Given the description of an element on the screen output the (x, y) to click on. 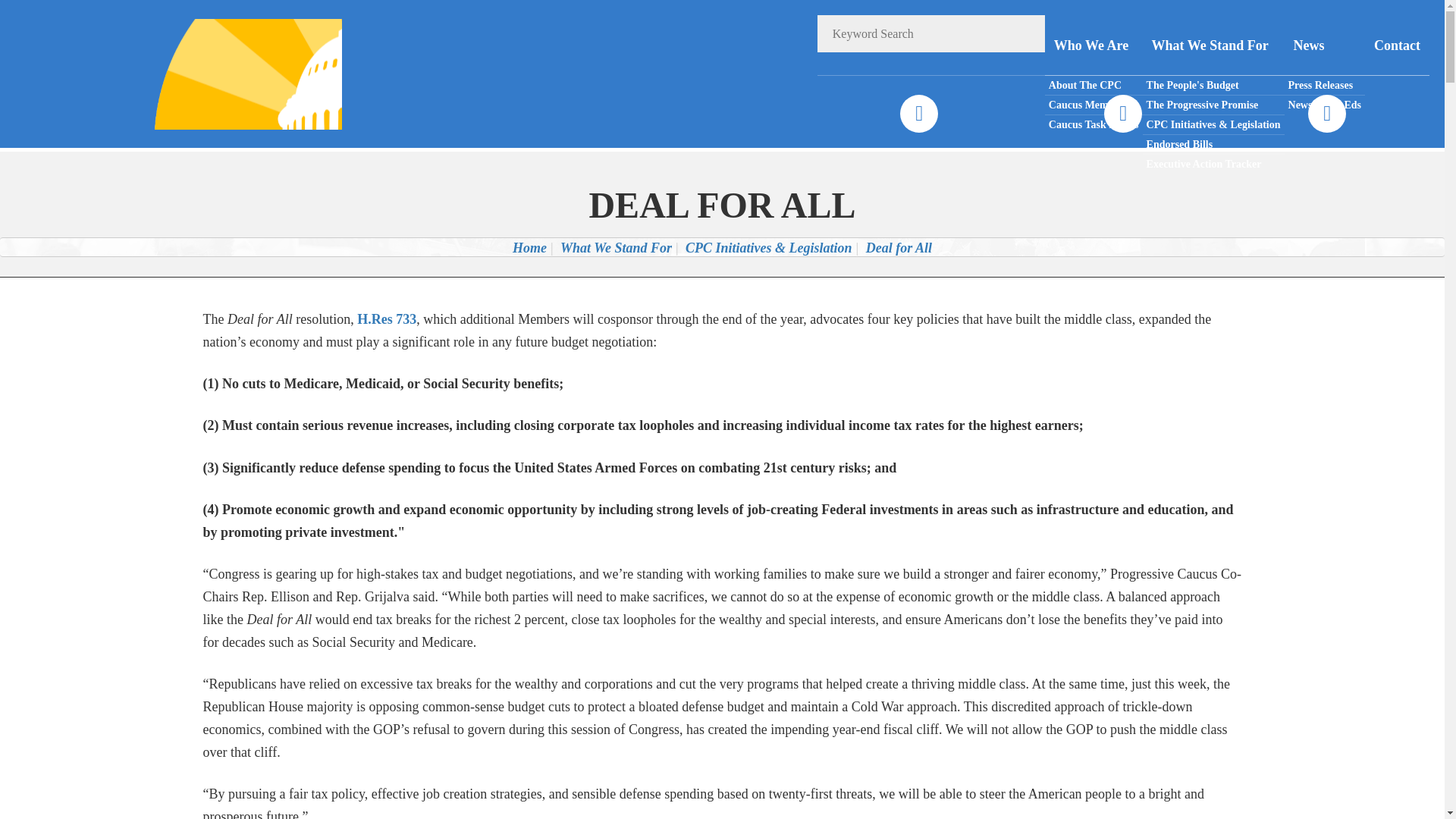
About The CPC (1093, 85)
DEAL FOR ALL (722, 205)
Facebook (918, 113)
Who We Are (1093, 45)
Executive Action Tracker (1213, 163)
Go (1026, 33)
What We Stand For (1213, 45)
News (1324, 45)
Deal for All (898, 247)
The People's Budget (1213, 85)
The Progressive Promise (1213, 105)
YouTube (1326, 113)
Endorsed Bills (1213, 144)
CONGRESSIONAL PROGRESSIVE CAUCUS (228, 73)
Press Releases (1324, 85)
